Given the description of an element on the screen output the (x, y) to click on. 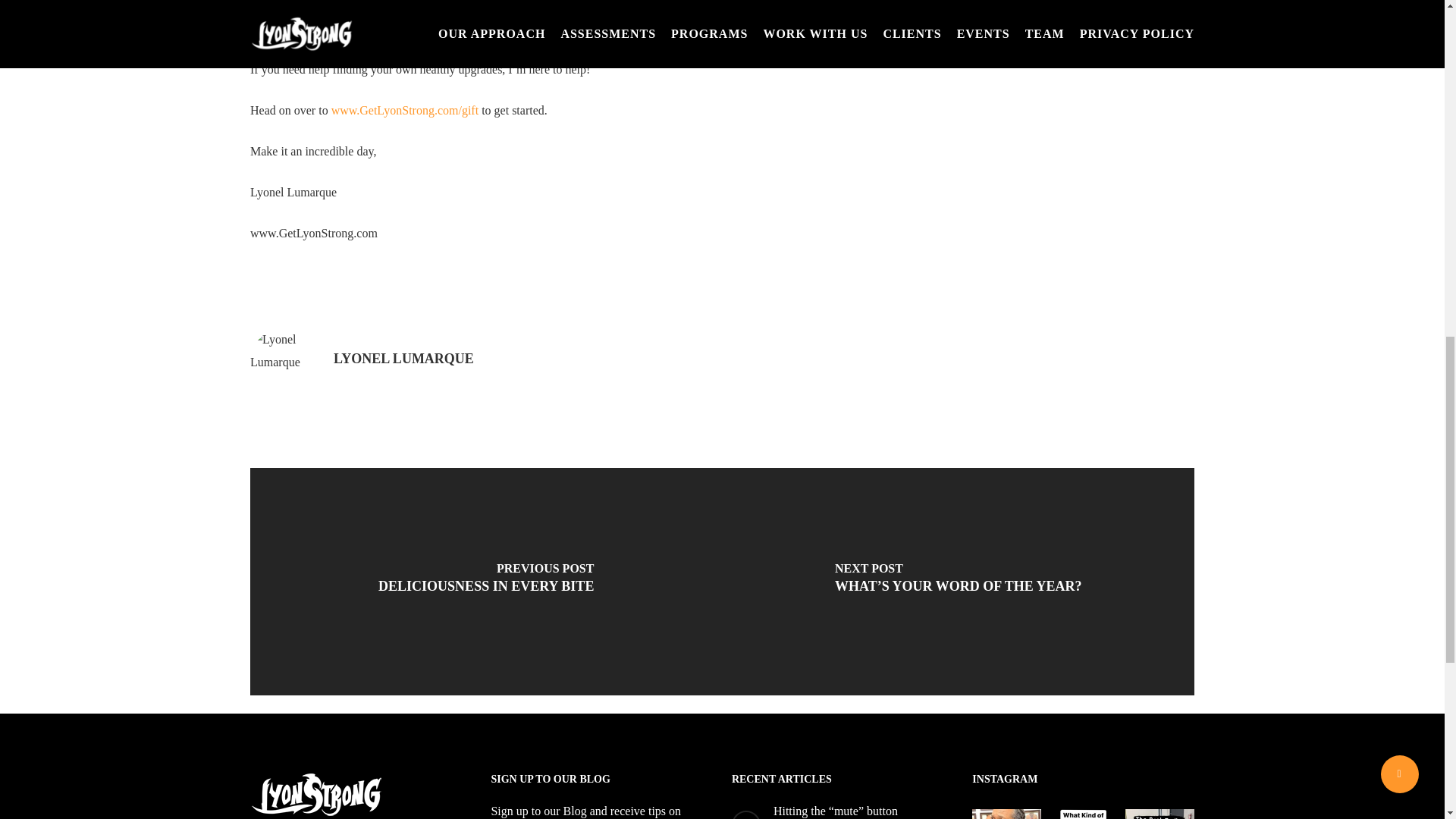
LYONEL LUMARQUE (403, 358)
SIGN UP (982, 37)
